Given the description of an element on the screen output the (x, y) to click on. 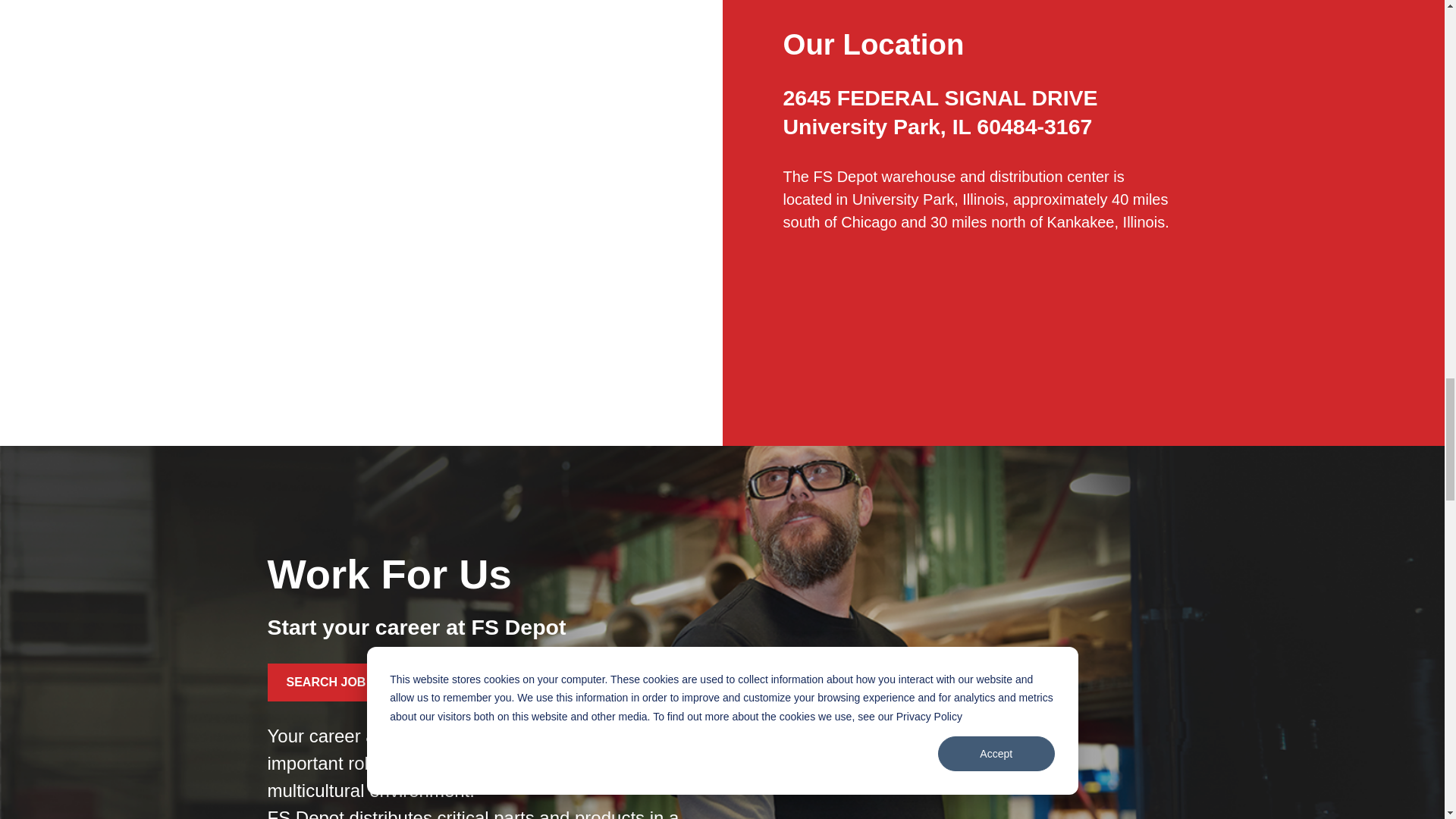
SEARCH JOB LISTINGS (355, 682)
